Given the description of an element on the screen output the (x, y) to click on. 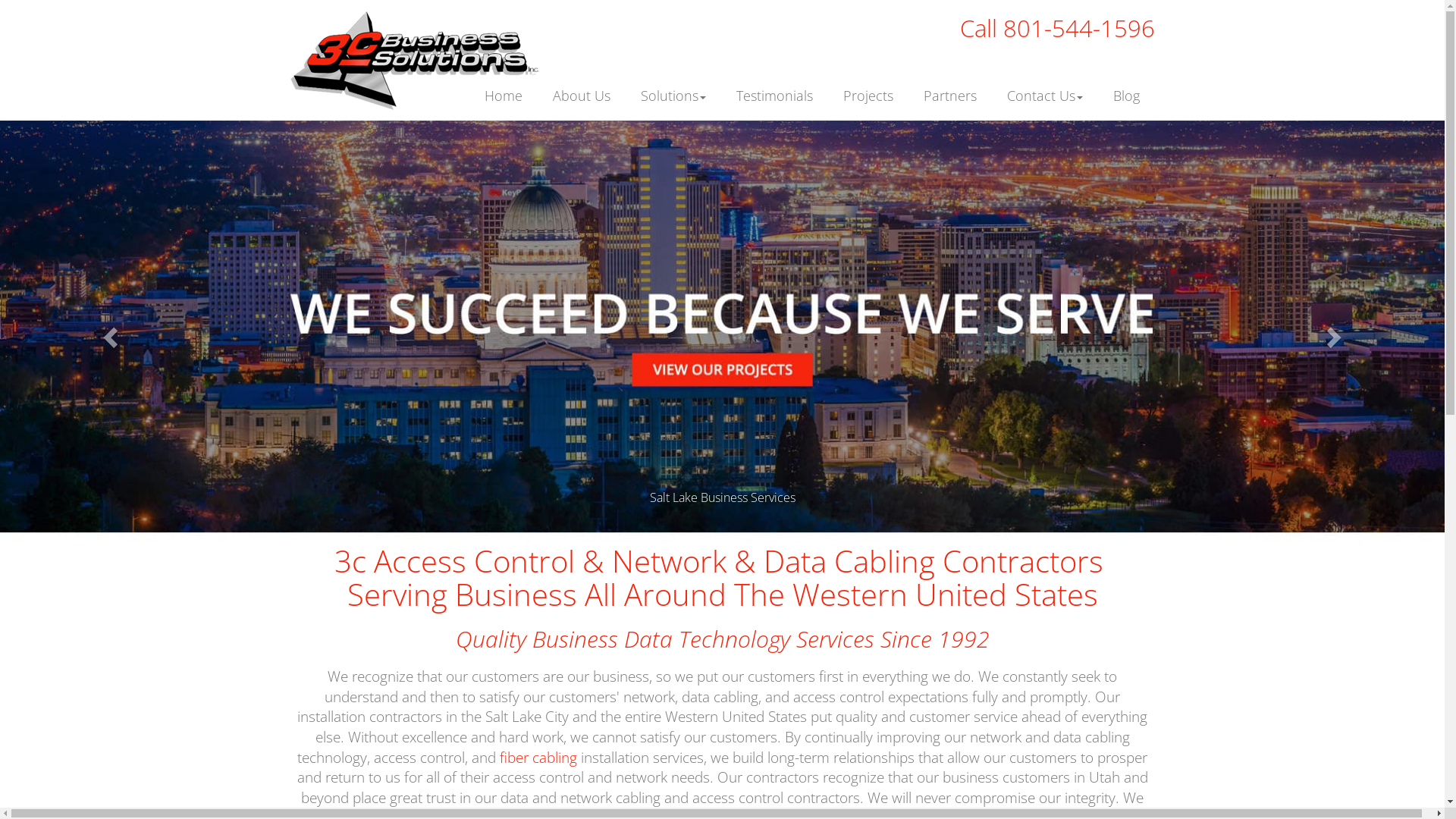
Partners Element type: text (949, 82)
Home Element type: text (502, 82)
Projects Element type: text (868, 82)
Testimonials Element type: text (773, 82)
fiber cabling Element type: text (538, 756)
Solutions Element type: text (672, 82)
Call 801-544-1596 Element type: text (1057, 27)
Next Element type: text (1335, 332)
Contact Us Element type: text (1044, 82)
About Us Element type: text (580, 82)
Previous Element type: text (108, 332)
Blog Element type: text (1126, 82)
